Given the description of an element on the screen output the (x, y) to click on. 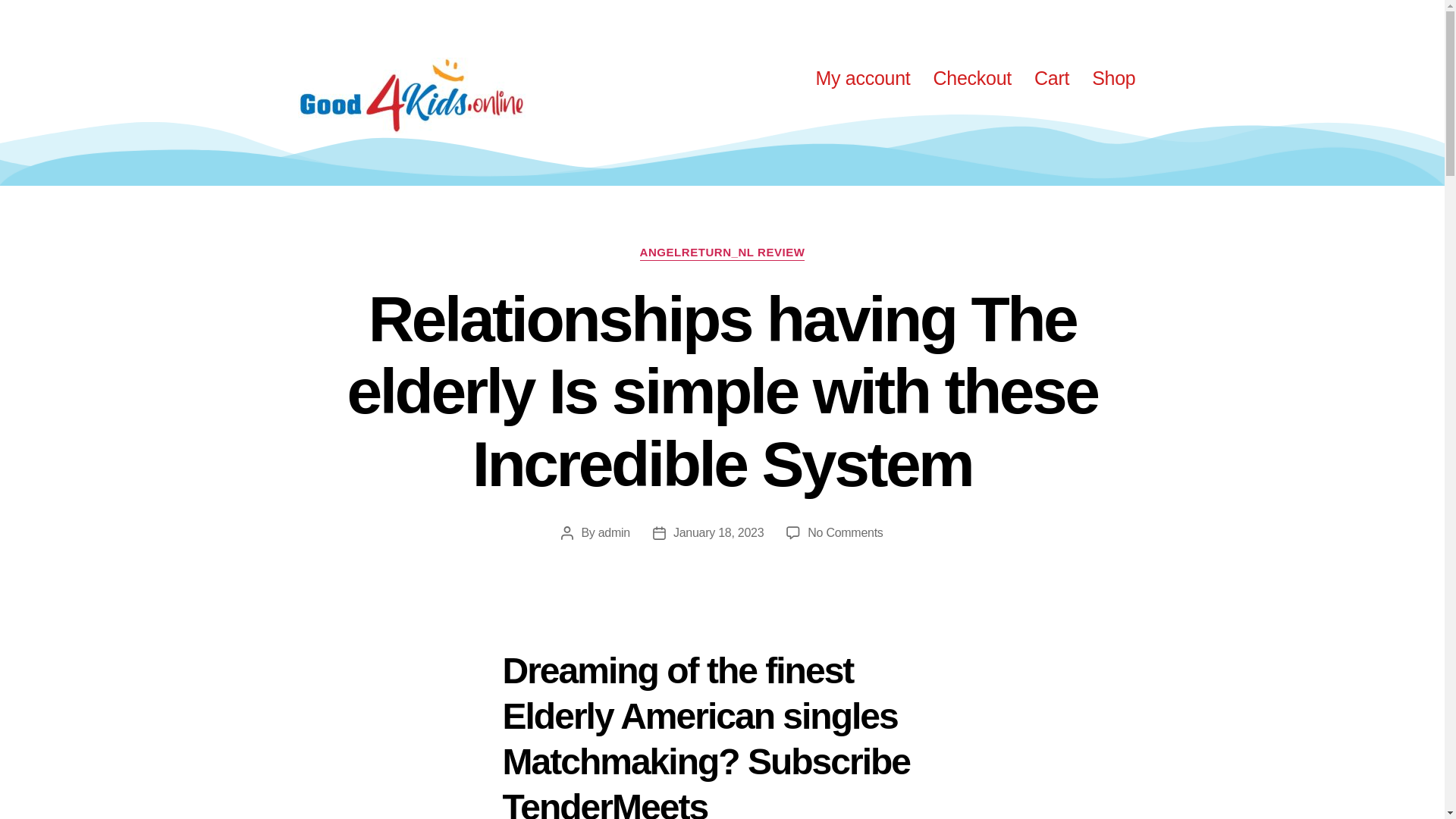
No Comments (845, 532)
My account (862, 78)
Checkout (972, 78)
Shop (1113, 78)
admin (614, 532)
January 18, 2023 (717, 532)
Cart (1051, 78)
